Given the description of an element on the screen output the (x, y) to click on. 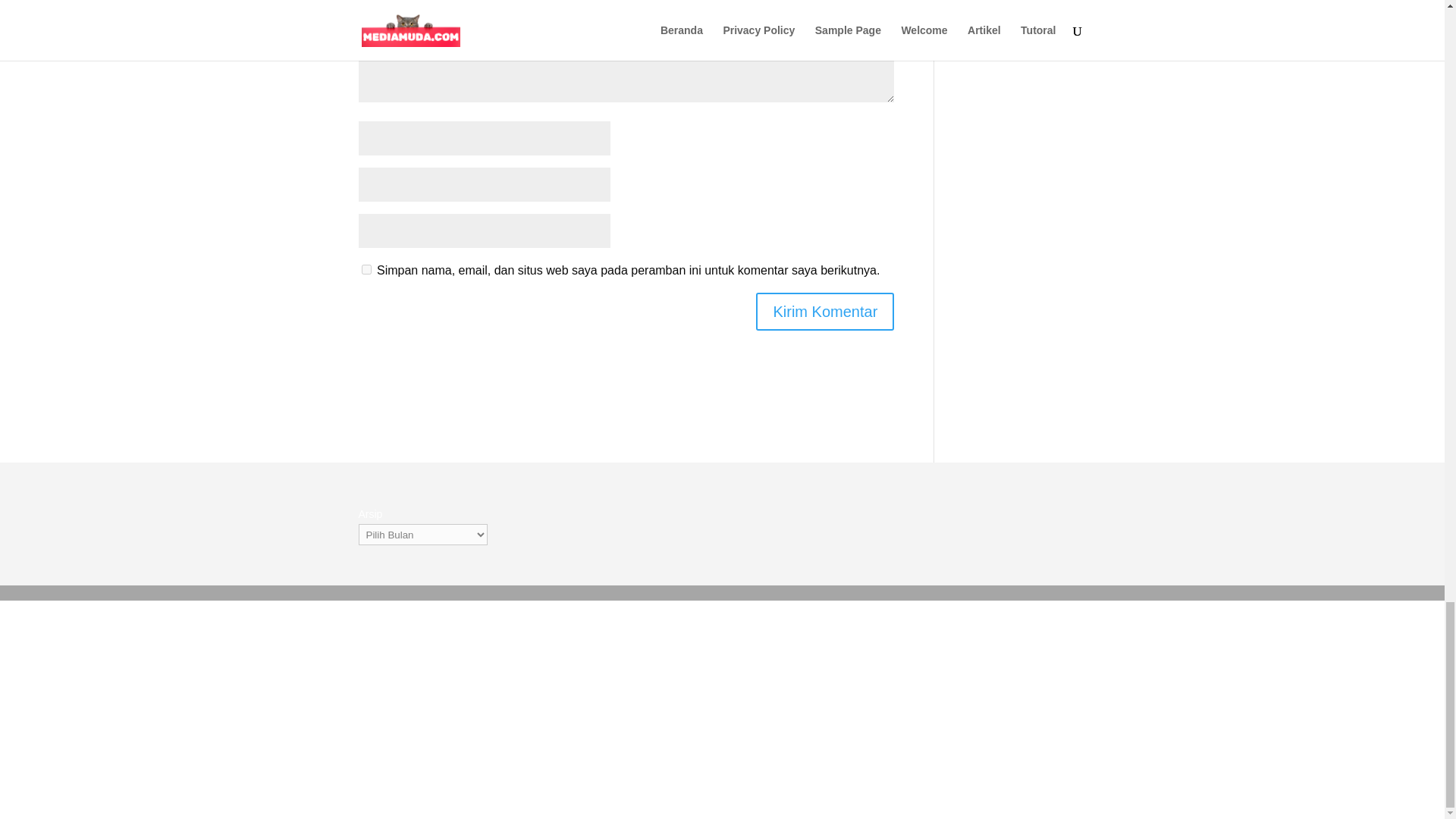
Kirim Komentar (824, 311)
Kirim Komentar (824, 311)
yes (366, 269)
